Given the description of an element on the screen output the (x, y) to click on. 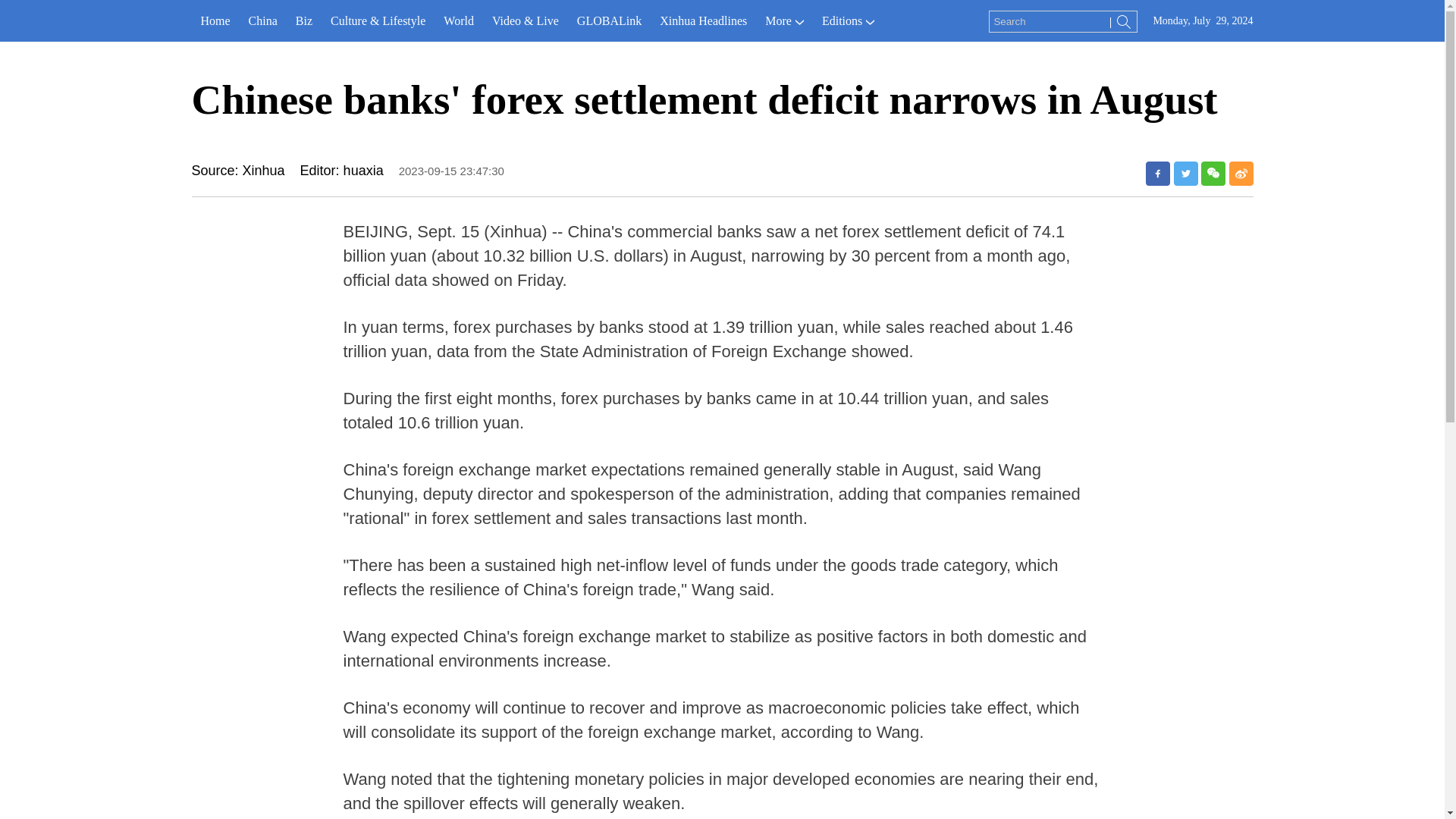
Home (214, 20)
China (263, 20)
World (458, 20)
More (783, 20)
Xinhua Headlines (702, 20)
Editions (847, 20)
GLOBALink (608, 20)
